Given the description of an element on the screen output the (x, y) to click on. 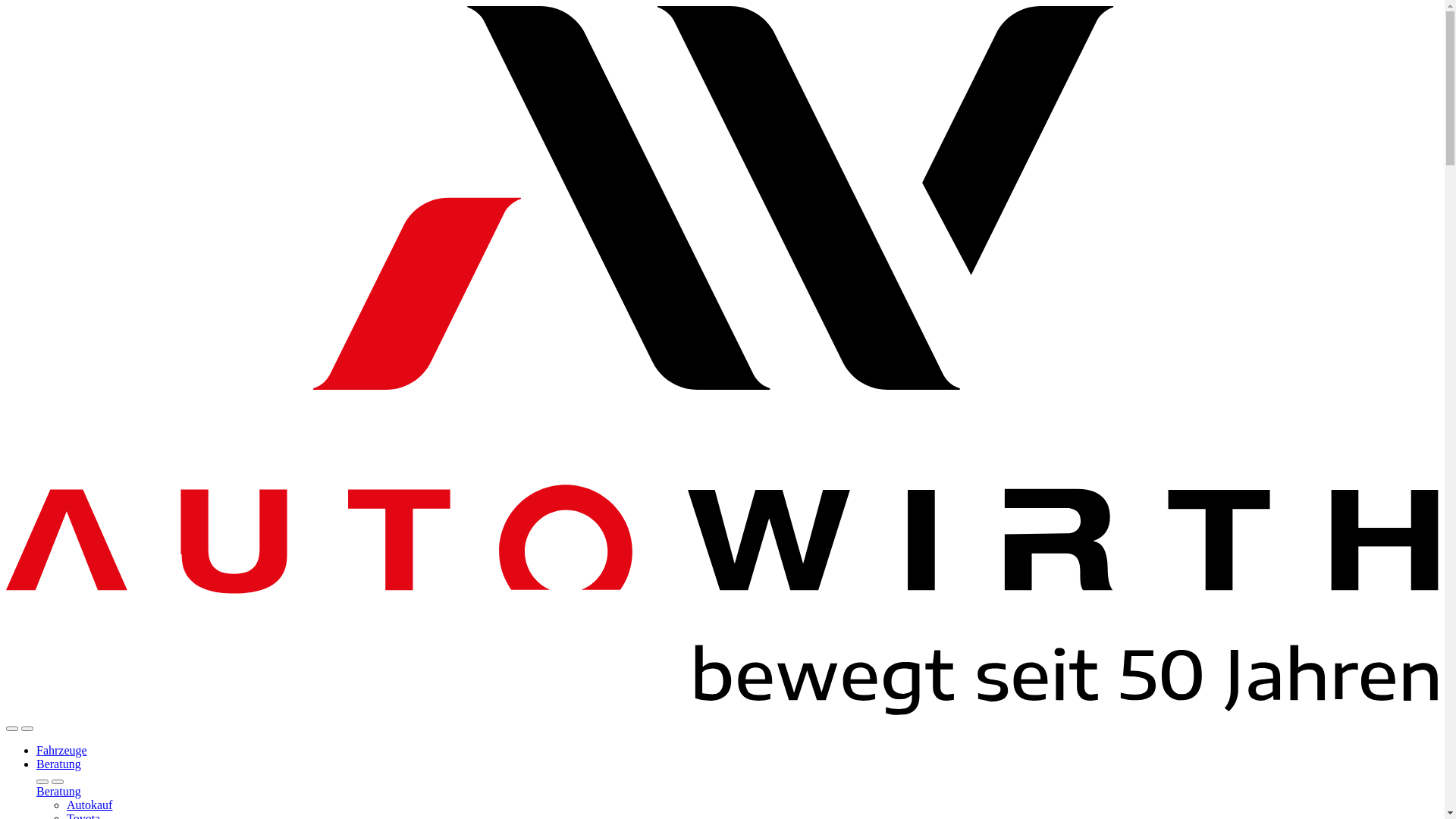
Autokauf Element type: text (89, 804)
Beratung Element type: text (58, 790)
Fahrzeuge Element type: text (61, 749)
Beratung Element type: text (58, 763)
